Given the description of an element on the screen output the (x, y) to click on. 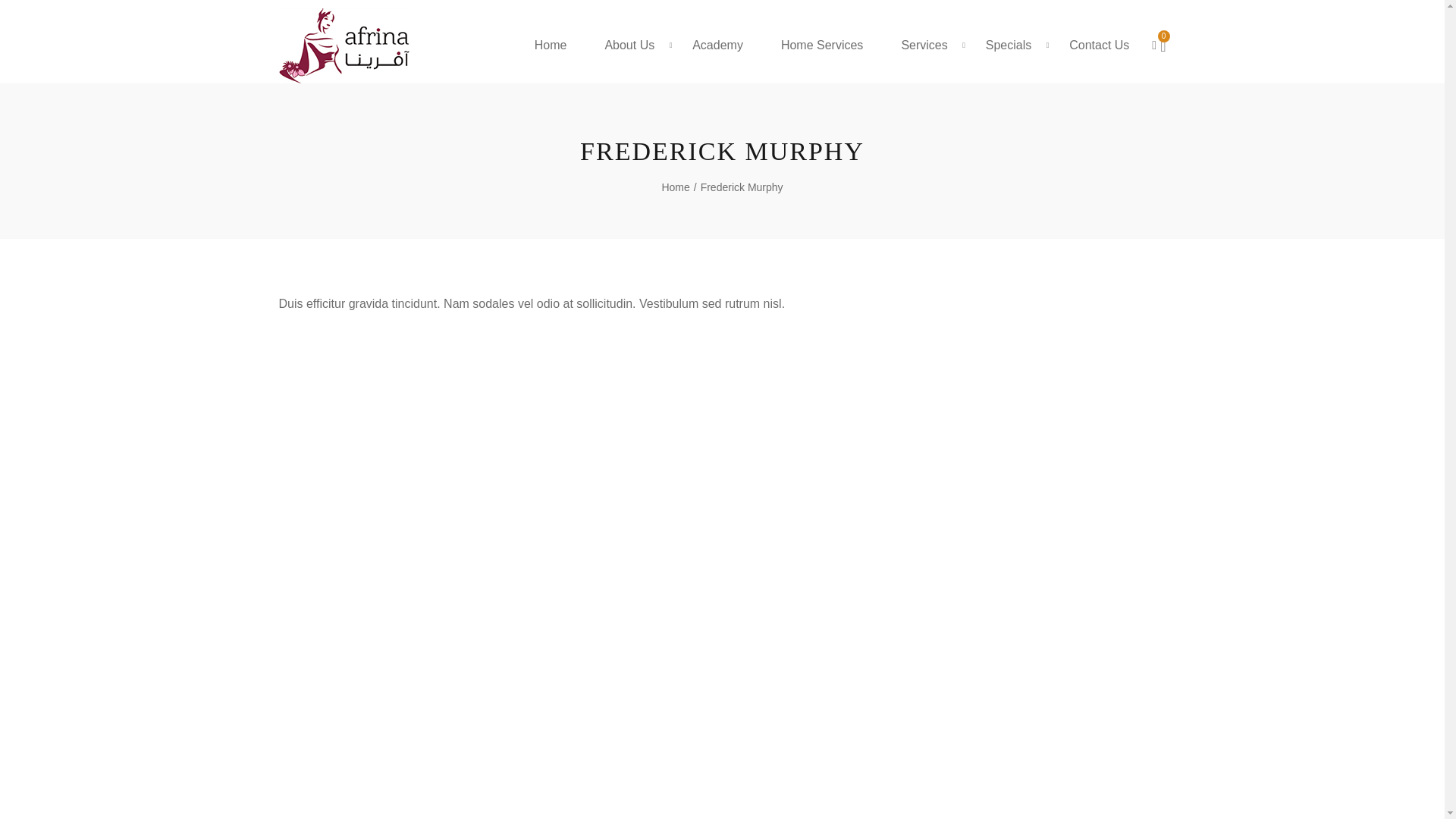
Academy (716, 45)
Home (550, 45)
About Us (628, 45)
Services (924, 45)
Home Services (821, 45)
